Given the description of an element on the screen output the (x, y) to click on. 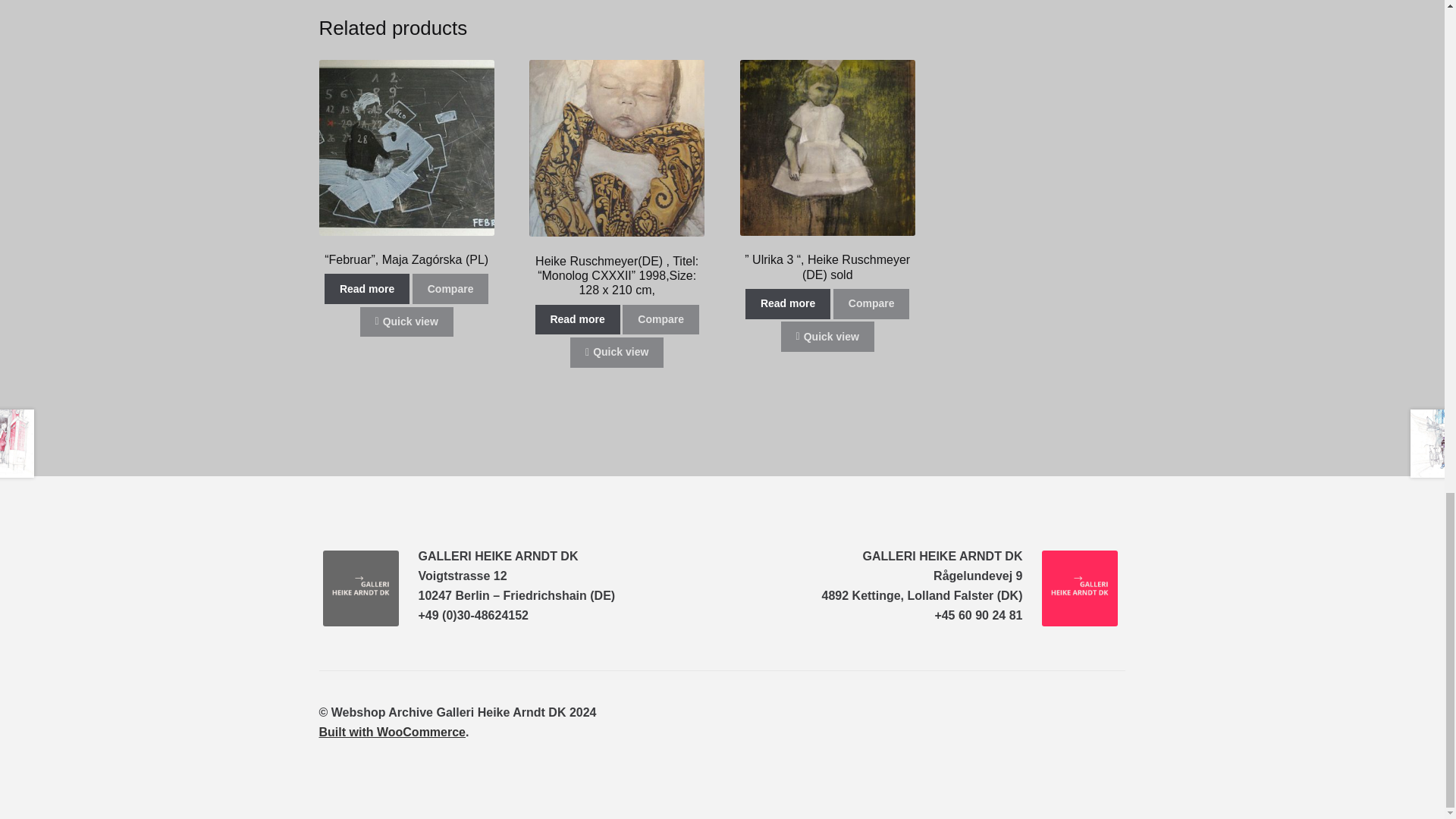
WooCommerce - The Best eCommerce Platform for WordPress (391, 731)
